Given the description of an element on the screen output the (x, y) to click on. 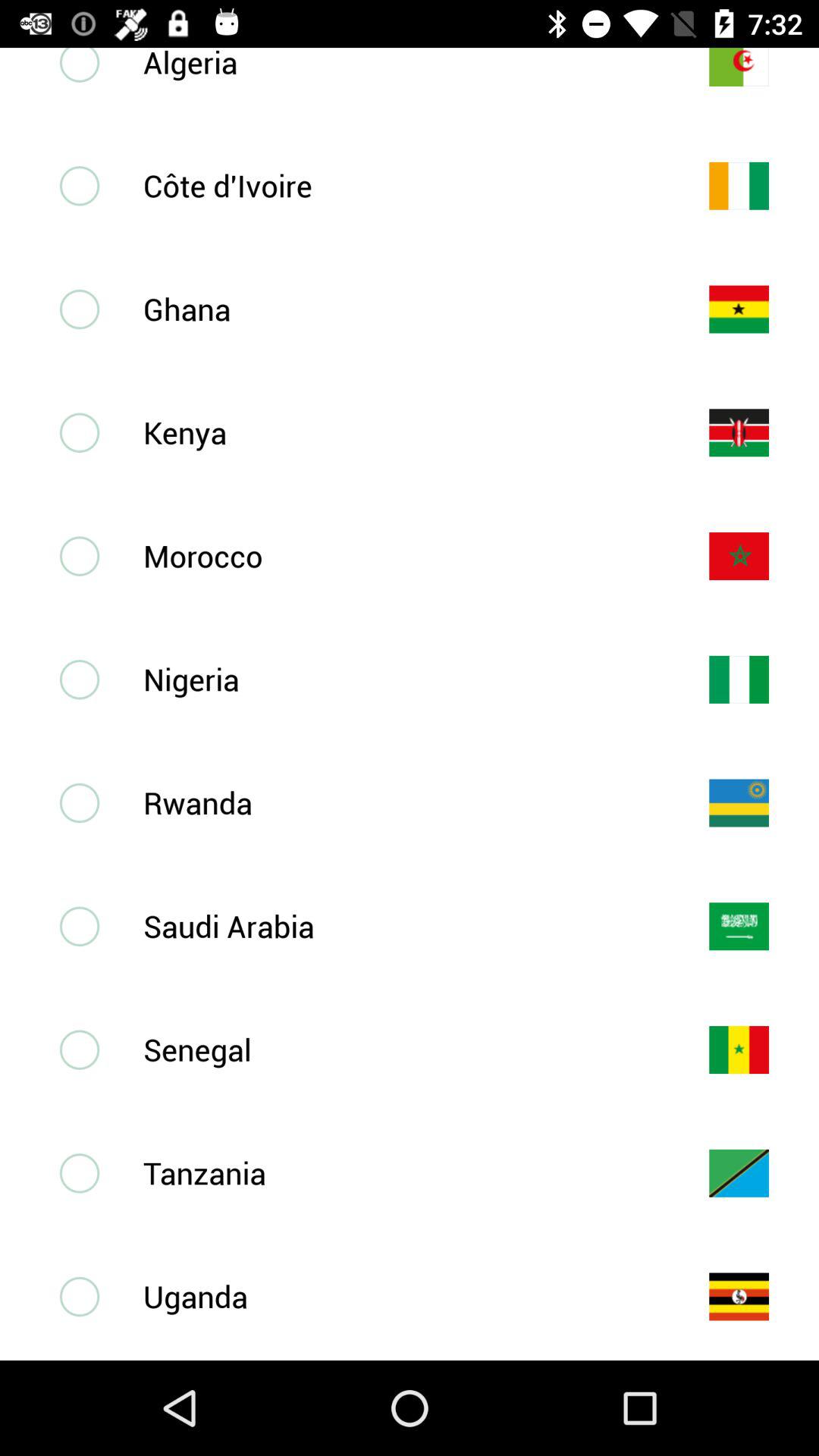
press nigeria icon (401, 679)
